Given the description of an element on the screen output the (x, y) to click on. 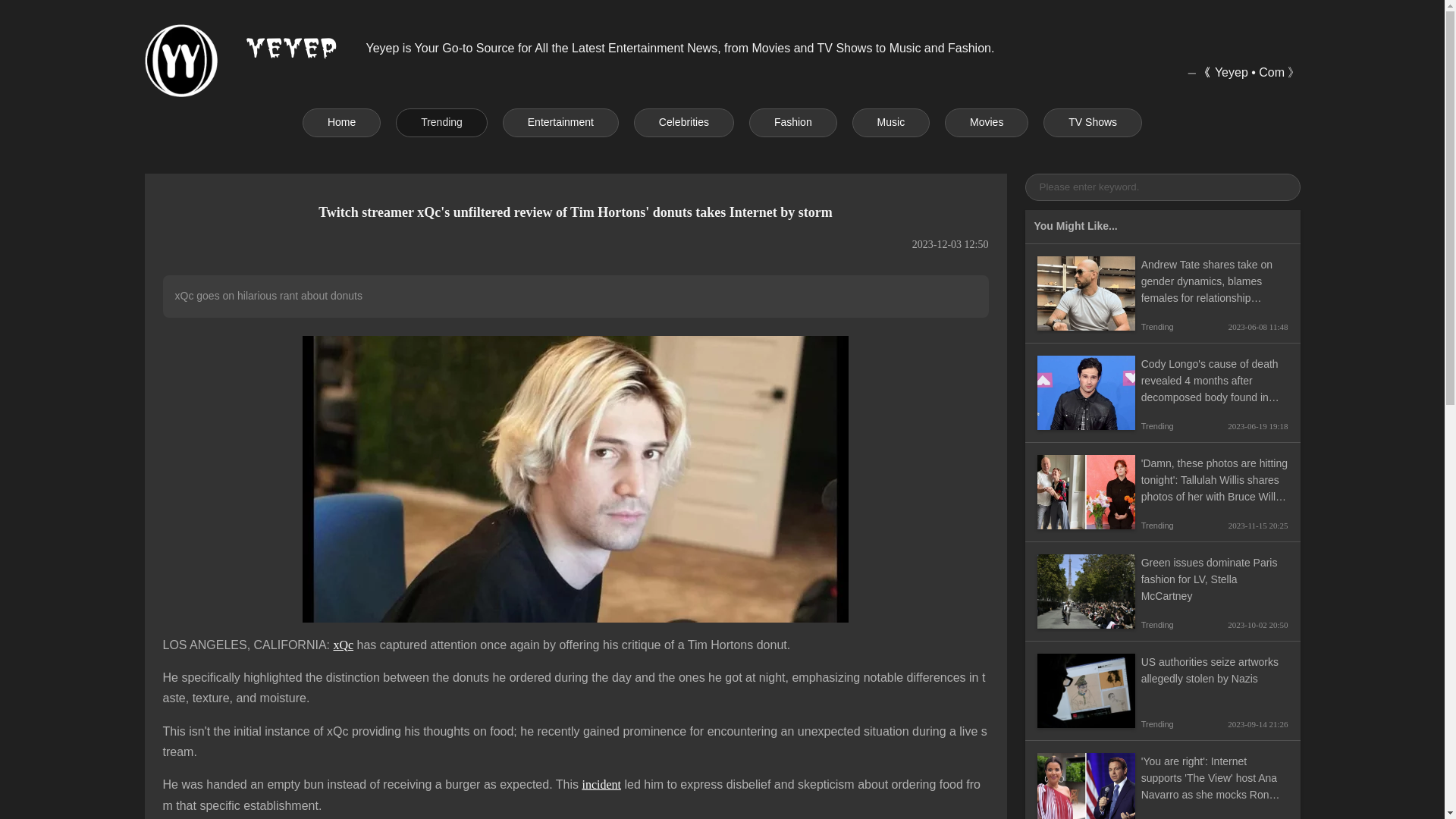
Music (890, 122)
Fashion (793, 122)
incident (600, 784)
Entertainment (560, 122)
xQc (343, 644)
Home (341, 122)
Movies (985, 122)
Celebrities (683, 122)
Trending (441, 122)
TV Shows (1092, 122)
